Given the description of an element on the screen output the (x, y) to click on. 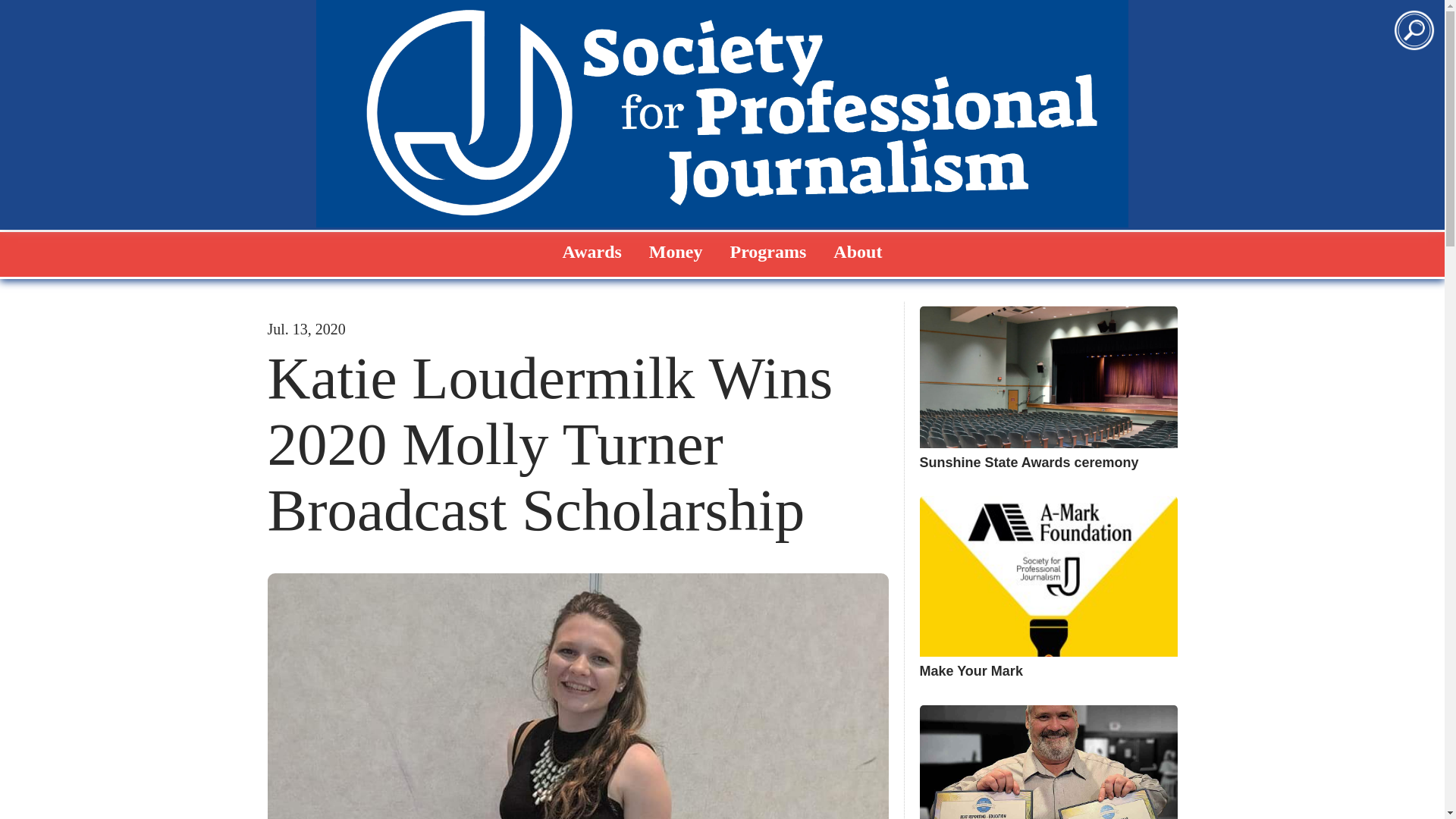
Awards (591, 251)
About (857, 251)
Programs (767, 251)
Money (676, 251)
